Given the description of an element on the screen output the (x, y) to click on. 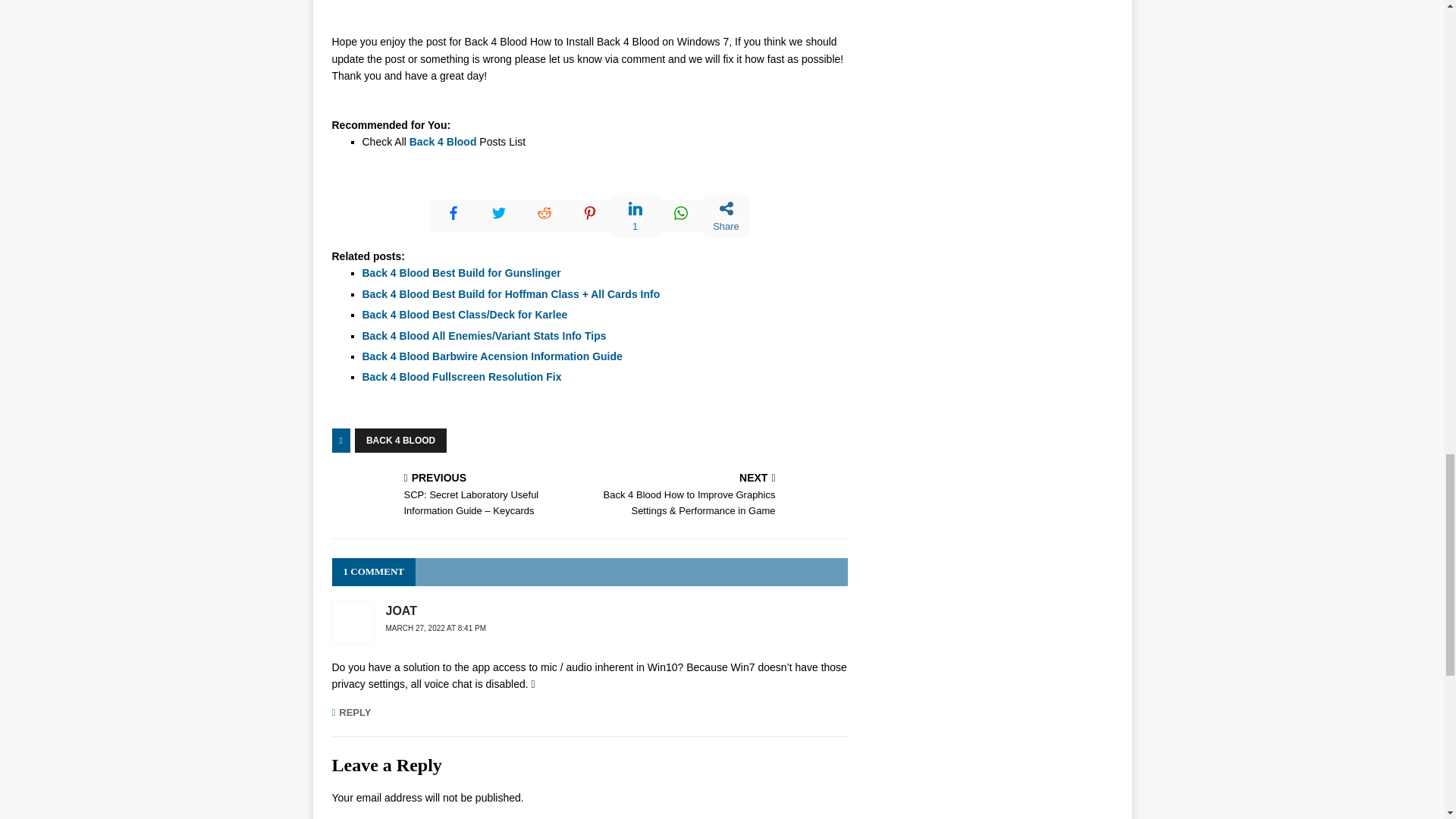
Back 4 Blood Fullscreen Resolution Fix (462, 377)
Back 4 Blood Best Build for Gunslinger (461, 272)
Back 4 Blood Barbwire Acension Information Guide (492, 356)
REPLY (351, 712)
1 (635, 215)
Back 4 Blood (443, 141)
MARCH 27, 2022 AT 8:41 PM (434, 628)
Share (726, 215)
BACK 4 BLOOD (400, 440)
